Given the description of an element on the screen output the (x, y) to click on. 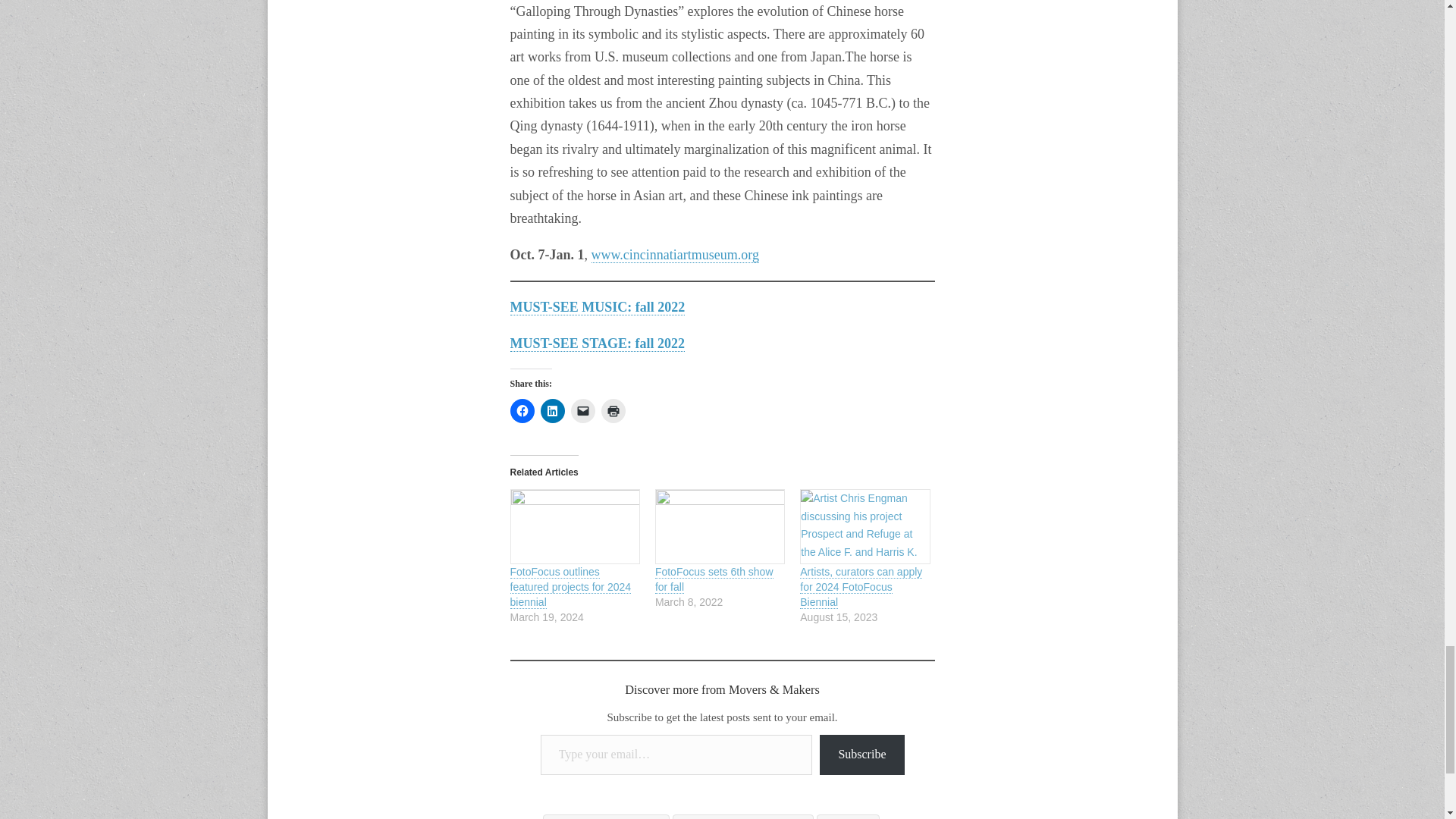
Click to share on Facebook (521, 410)
FotoFocus outlines featured projects for 2024 biennial (574, 526)
Click to email a link to a friend (582, 410)
FotoFocus outlines featured projects for 2024 biennial (569, 587)
Click to share on LinkedIn (552, 410)
Click to print (611, 410)
